Given the description of an element on the screen output the (x, y) to click on. 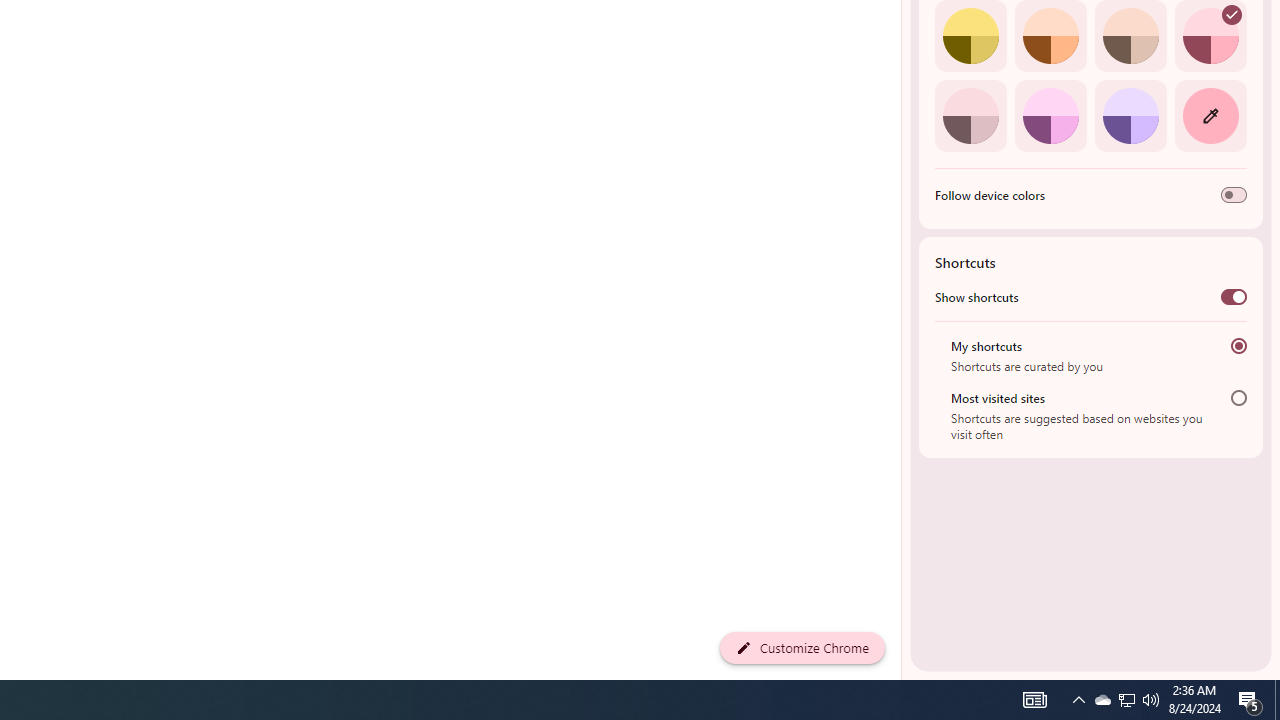
Apricot (1130, 36)
Custom color (1210, 115)
Fuchsia (1050, 115)
Show shortcuts (1233, 296)
Most visited sites (1238, 398)
Orange (1050, 36)
AutomationID: svg (1231, 15)
Rose (1210, 36)
Customize Chrome (801, 647)
Citron (970, 36)
My shortcuts (1238, 345)
Side Panel Resize Handle (905, 39)
Follow device colors (1233, 195)
Pink (970, 115)
